Given the description of an element on the screen output the (x, y) to click on. 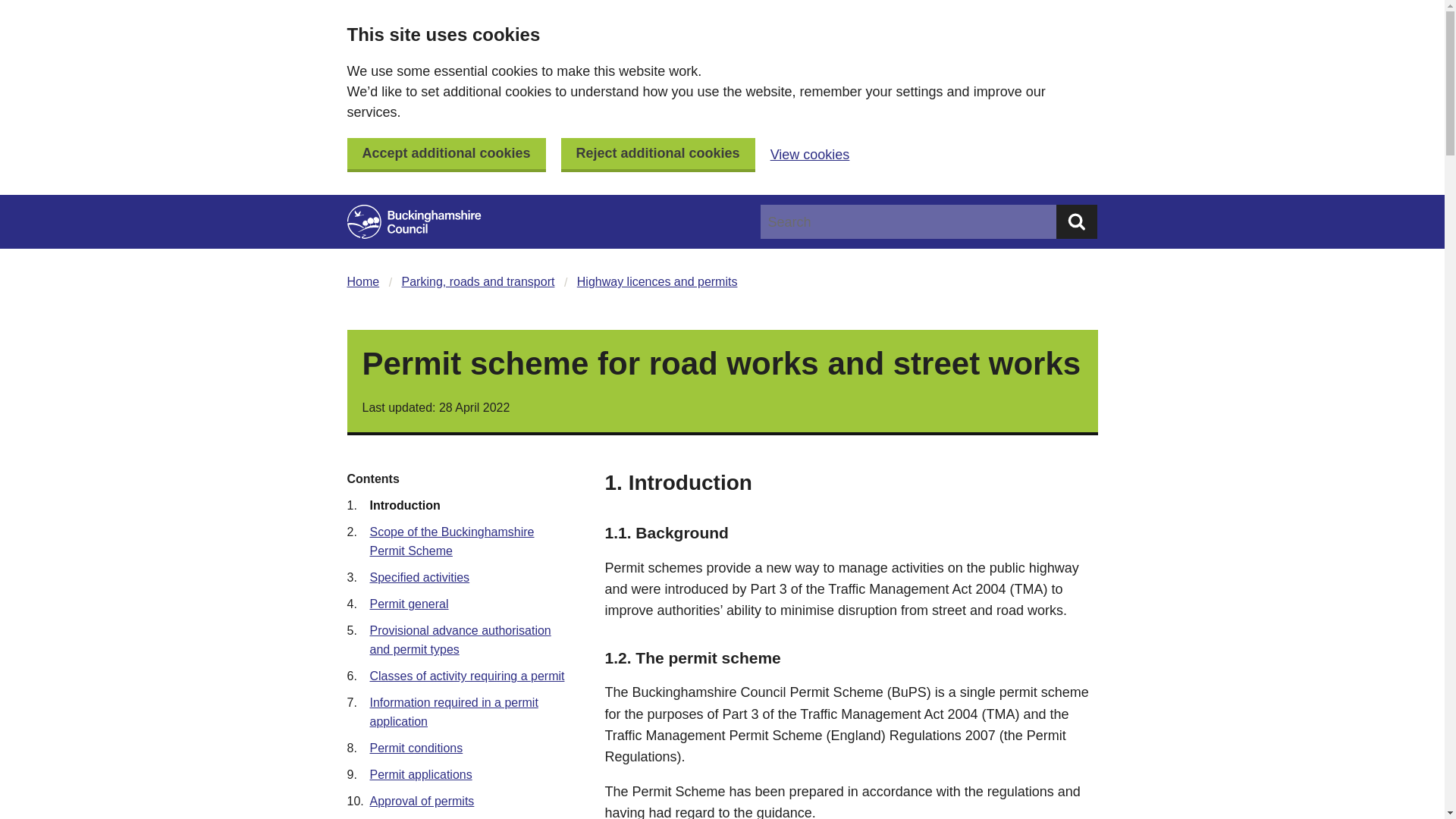
Specified activities (419, 576)
Parking, roads and transport (477, 281)
Approval of permits (421, 800)
Information required in a permit application (453, 712)
Scope of the Buckinghamshire Permit Scheme (451, 541)
Permit applications (420, 774)
Highway licences and permits (657, 281)
Classes of activity requiring a permit (466, 675)
View cookies (810, 154)
Reject additional cookies (657, 154)
